Given the description of an element on the screen output the (x, y) to click on. 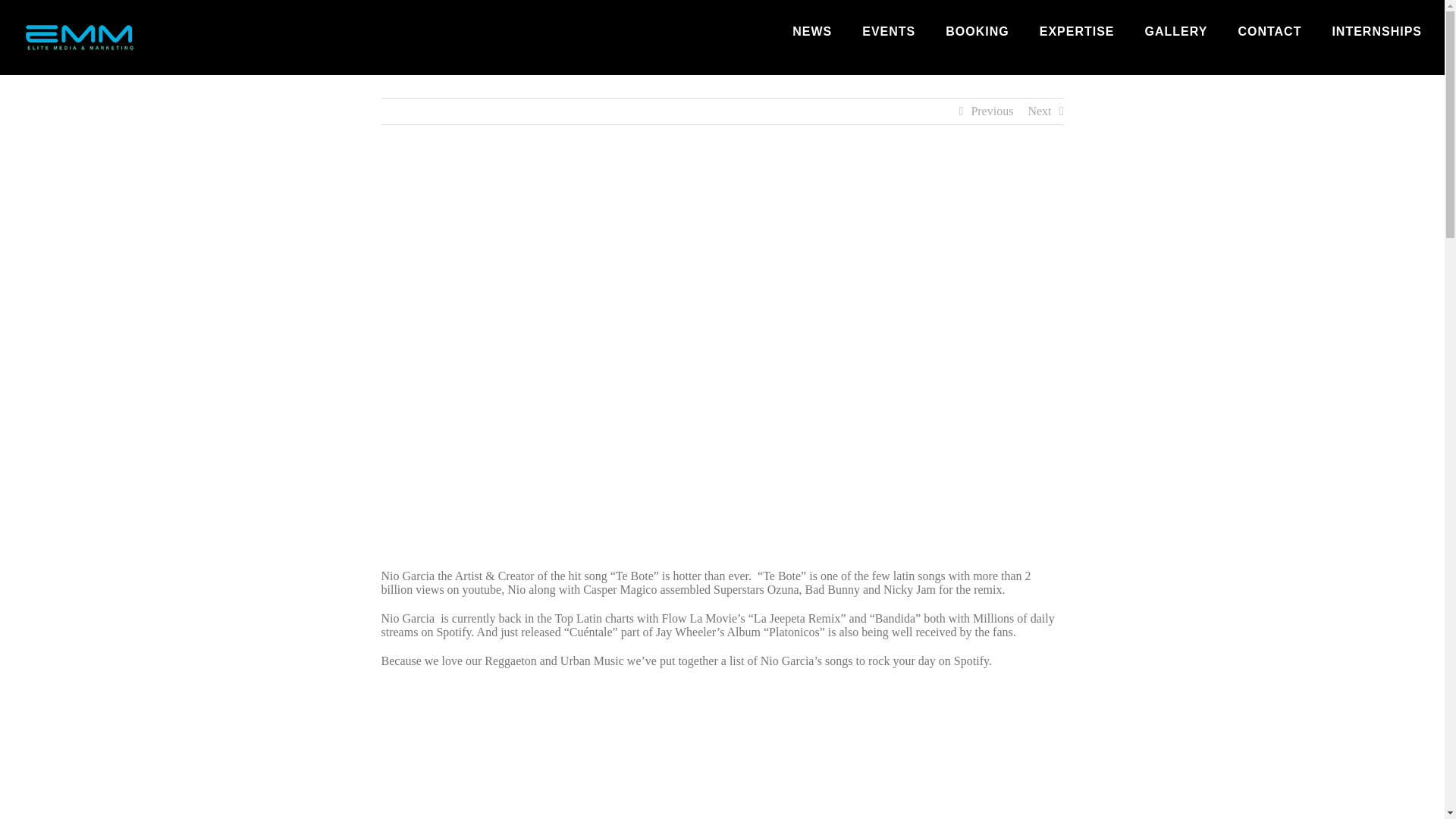
Next (1039, 111)
Previous (992, 111)
CONTACT (1269, 31)
BOOKING (976, 31)
INTERNSHIPS (1377, 31)
GALLERY (1176, 31)
EXPERTISE (1077, 31)
